Given the description of an element on the screen output the (x, y) to click on. 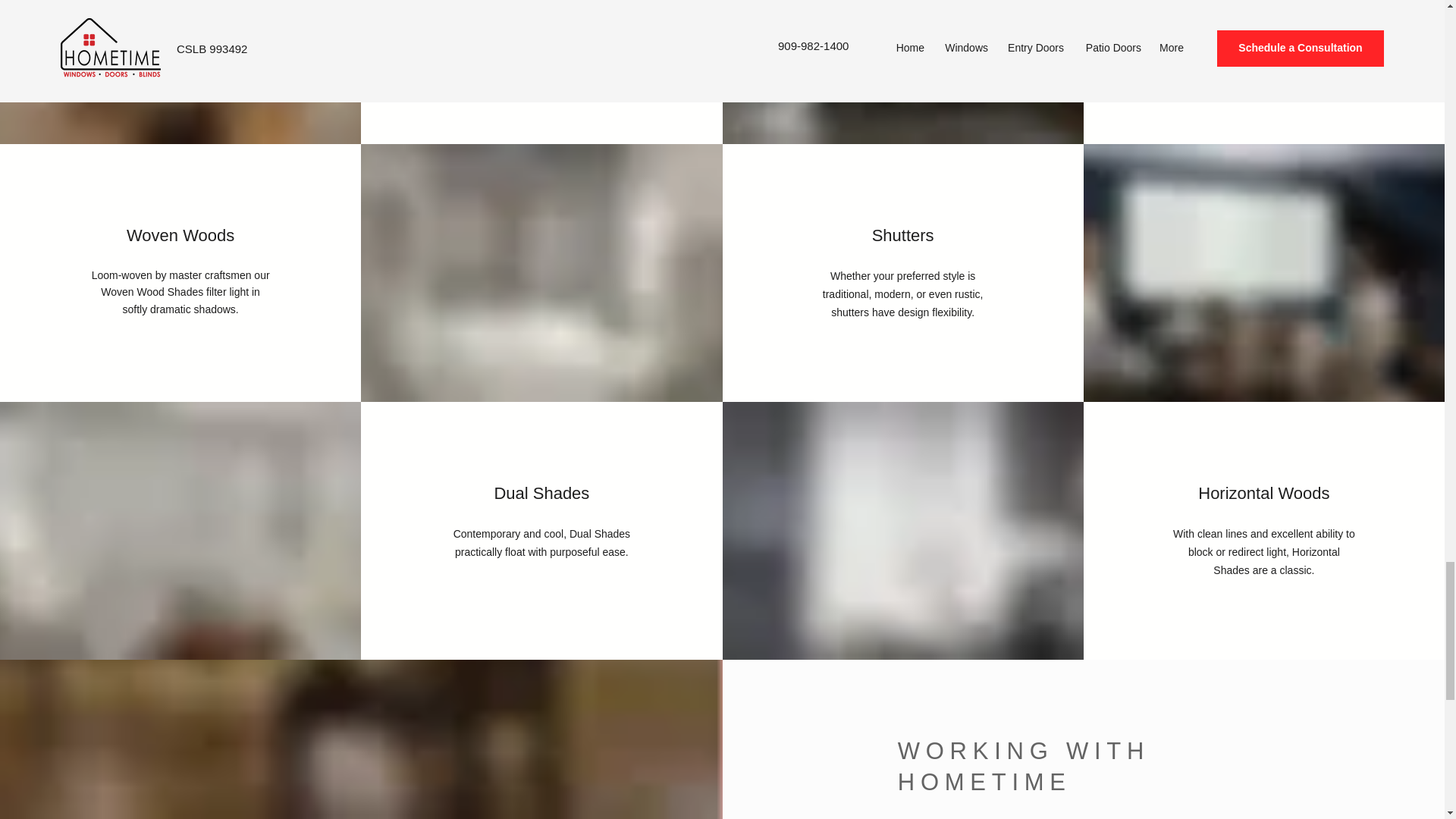
Dual Shades (541, 493)
Shutters (903, 235)
Horizontal Woods (1263, 493)
Woven Woods (180, 235)
